Given the description of an element on the screen output the (x, y) to click on. 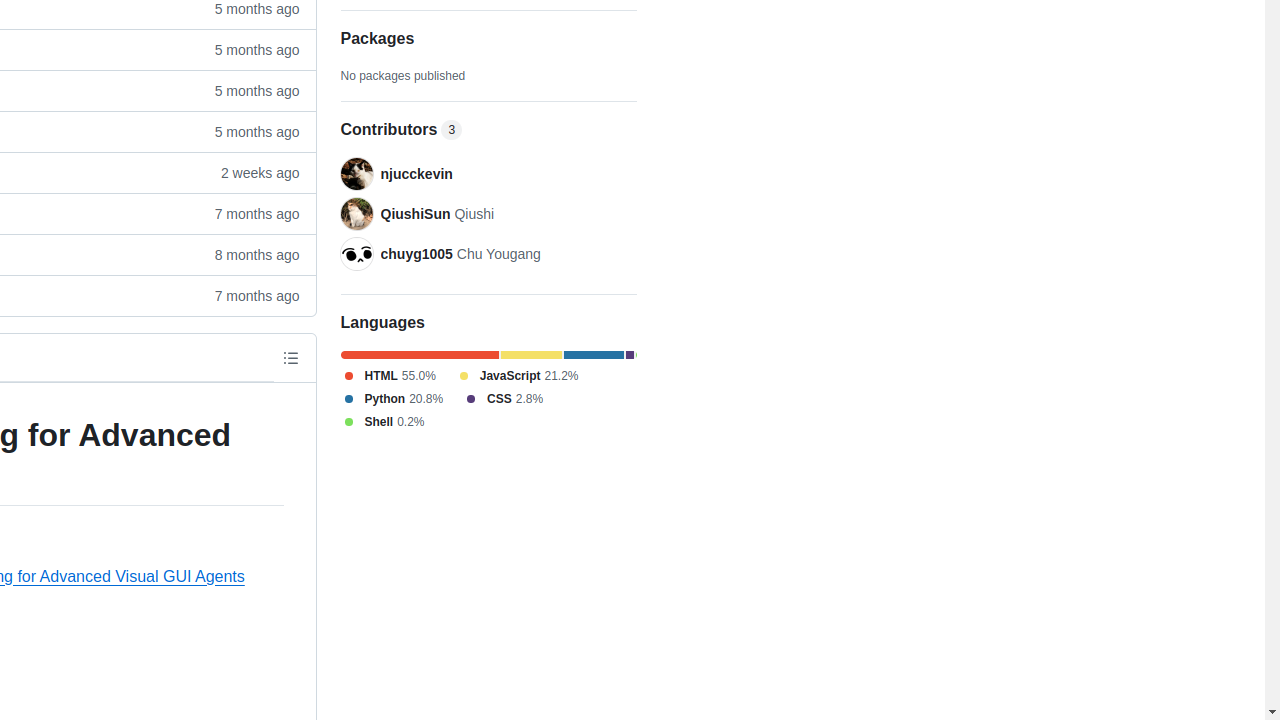
CSS 2.8% Element type: link (503, 399)
8 months ago Element type: table-cell (247, 254)
Packages Element type: link (488, 39)
Contributors 3 Element type: link (488, 130)
Shell 0.2% Element type: link (382, 422)
